Given the description of an element on the screen output the (x, y) to click on. 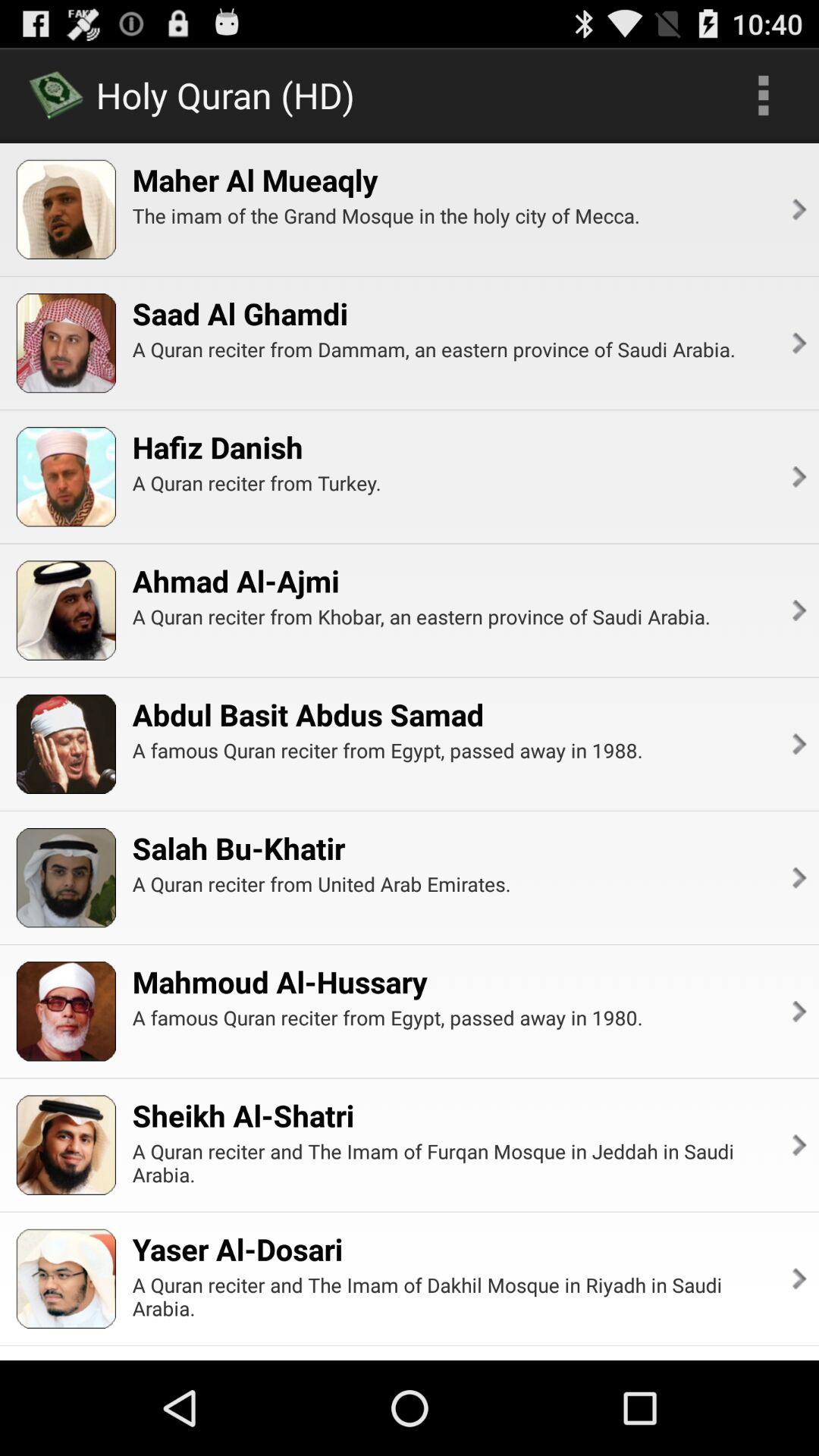
launch the abdul basit abdus item (308, 714)
